Given the description of an element on the screen output the (x, y) to click on. 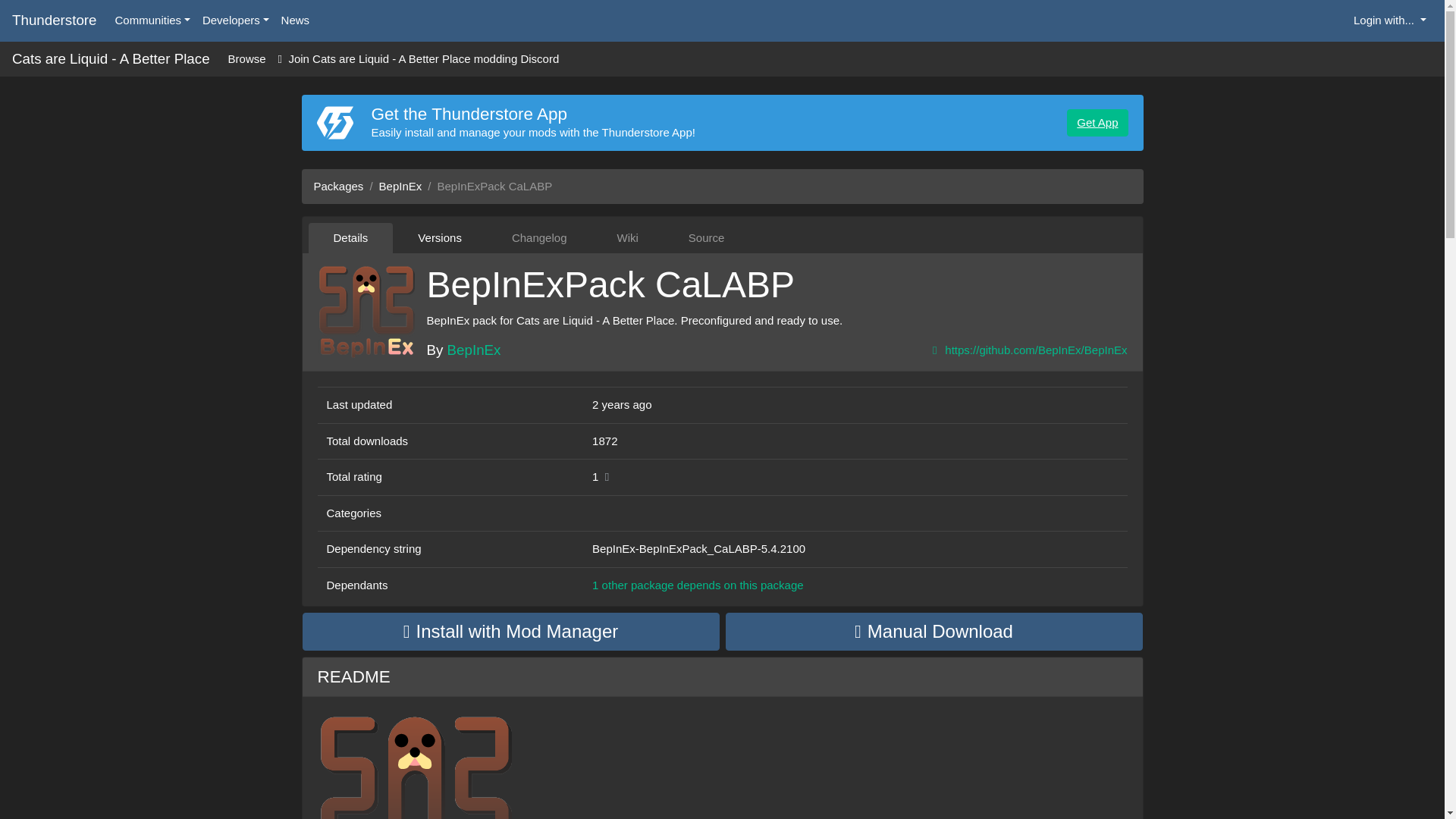
Thunderstore (54, 20)
Communities (152, 20)
